Given the description of an element on the screen output the (x, y) to click on. 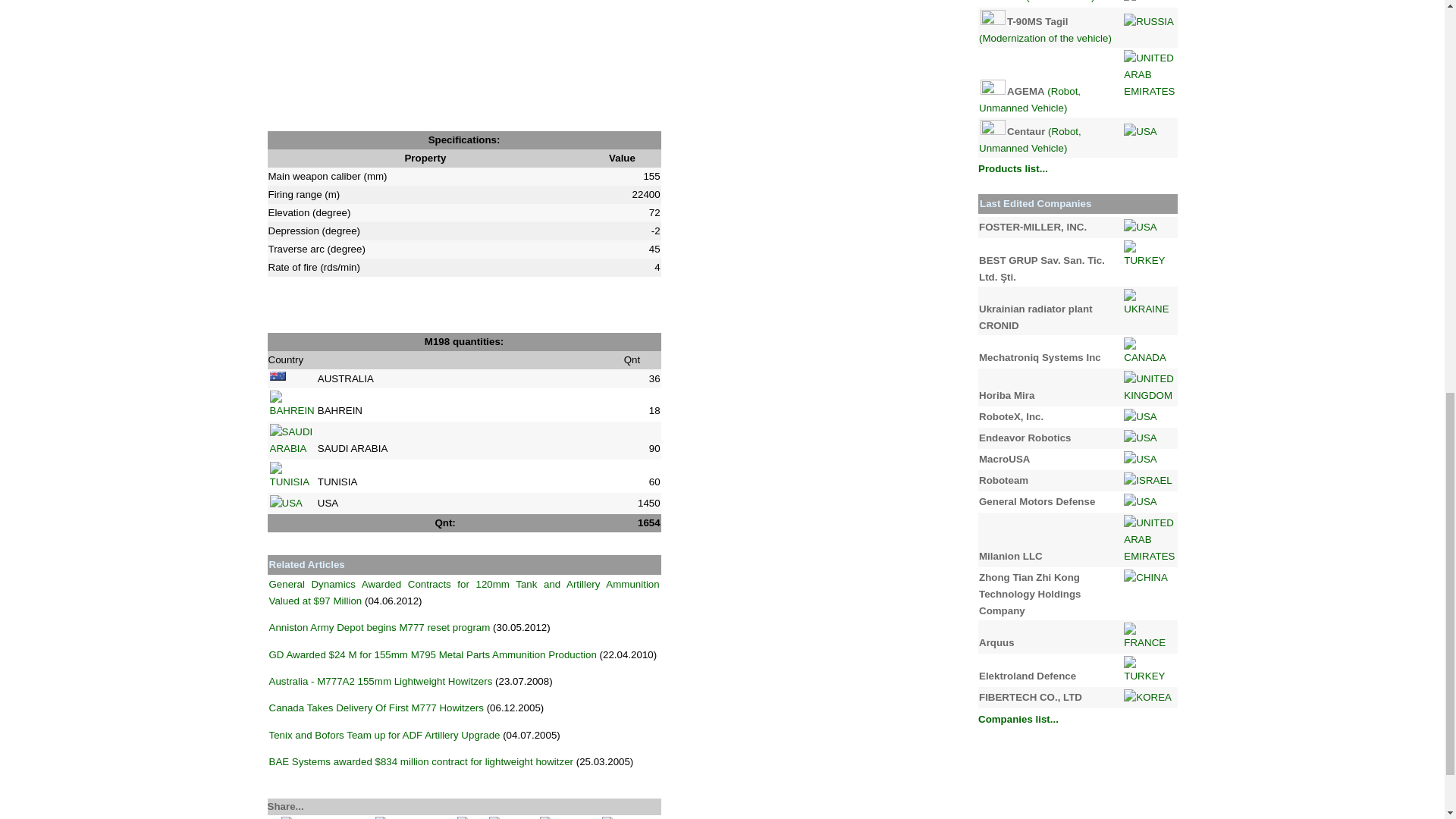
SAUDI ARABIA (291, 440)
TUNISIA (291, 475)
USA (285, 503)
Printable Version (325, 817)
AUSTRALIA (277, 375)
BAHREIN (291, 404)
Send by email (413, 817)
